Given the description of an element on the screen output the (x, y) to click on. 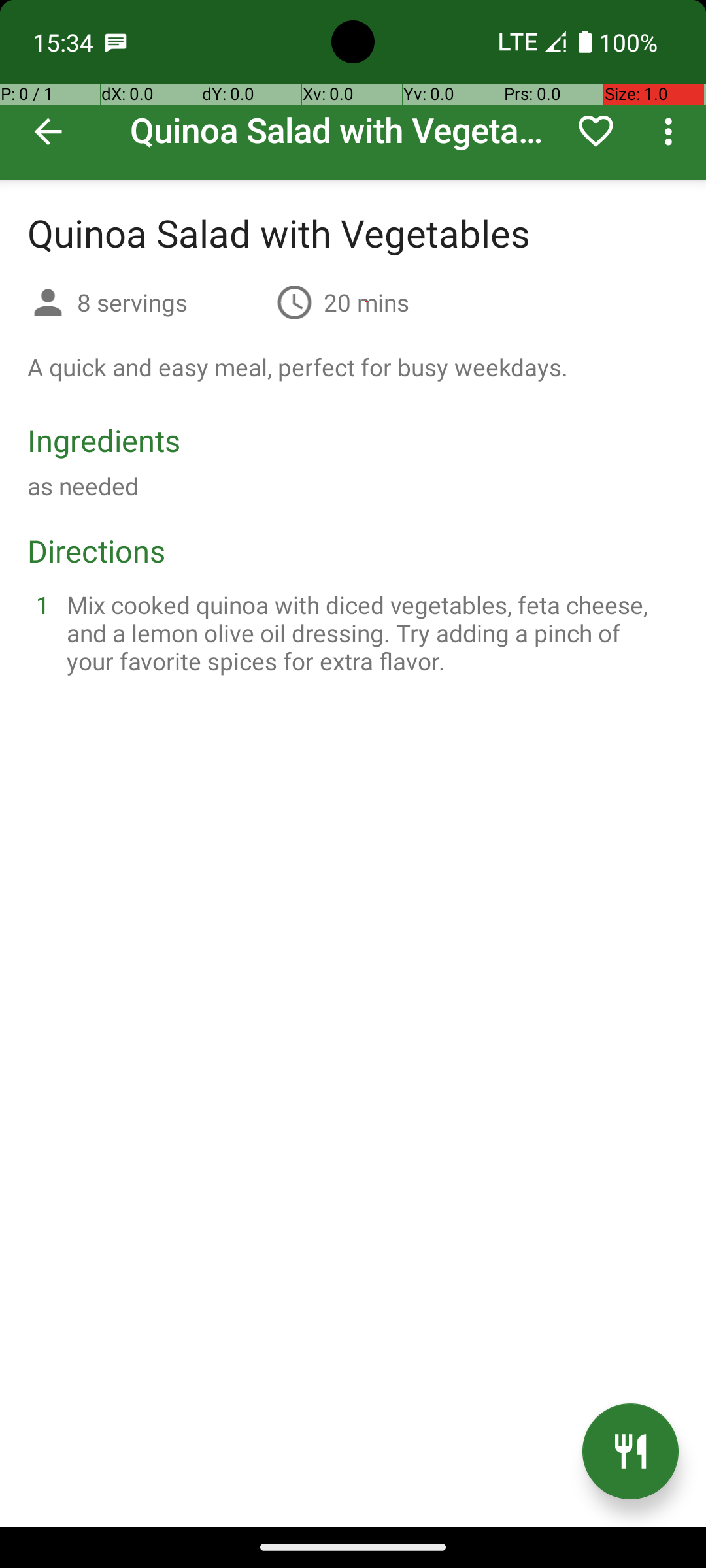
Quinoa Salad with Vegetables Element type: android.widget.FrameLayout (353, 89)
Mix cooked quinoa with diced vegetables, feta cheese, and a lemon olive oil dressing. Try adding a pinch of your favorite spices for extra flavor. Element type: android.widget.TextView (368, 632)
